Given the description of an element on the screen output the (x, y) to click on. 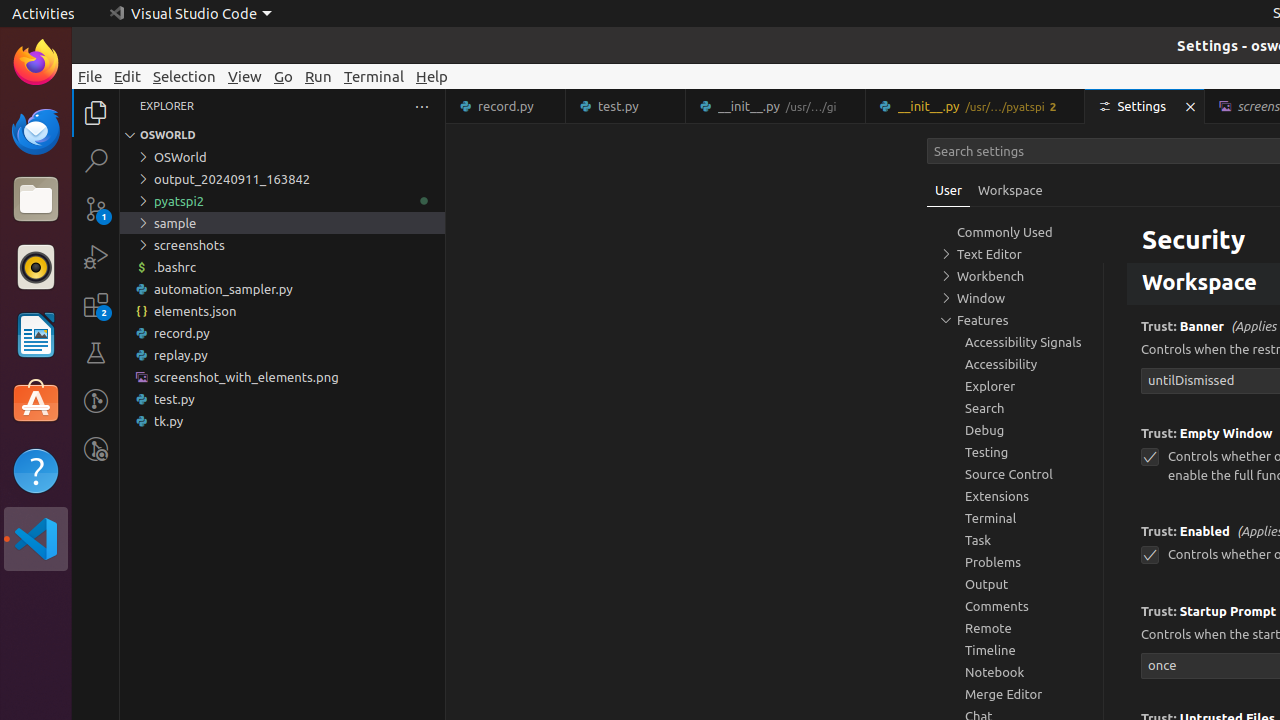
elements.json Element type: tree-item (282, 311)
Task, group Element type: tree-item (1015, 540)
automation_sampler.py Element type: tree-item (282, 289)
Settings Element type: page-tab (1145, 106)
Search (Ctrl+Shift+F) Element type: page-tab (96, 160)
